Given the description of an element on the screen output the (x, y) to click on. 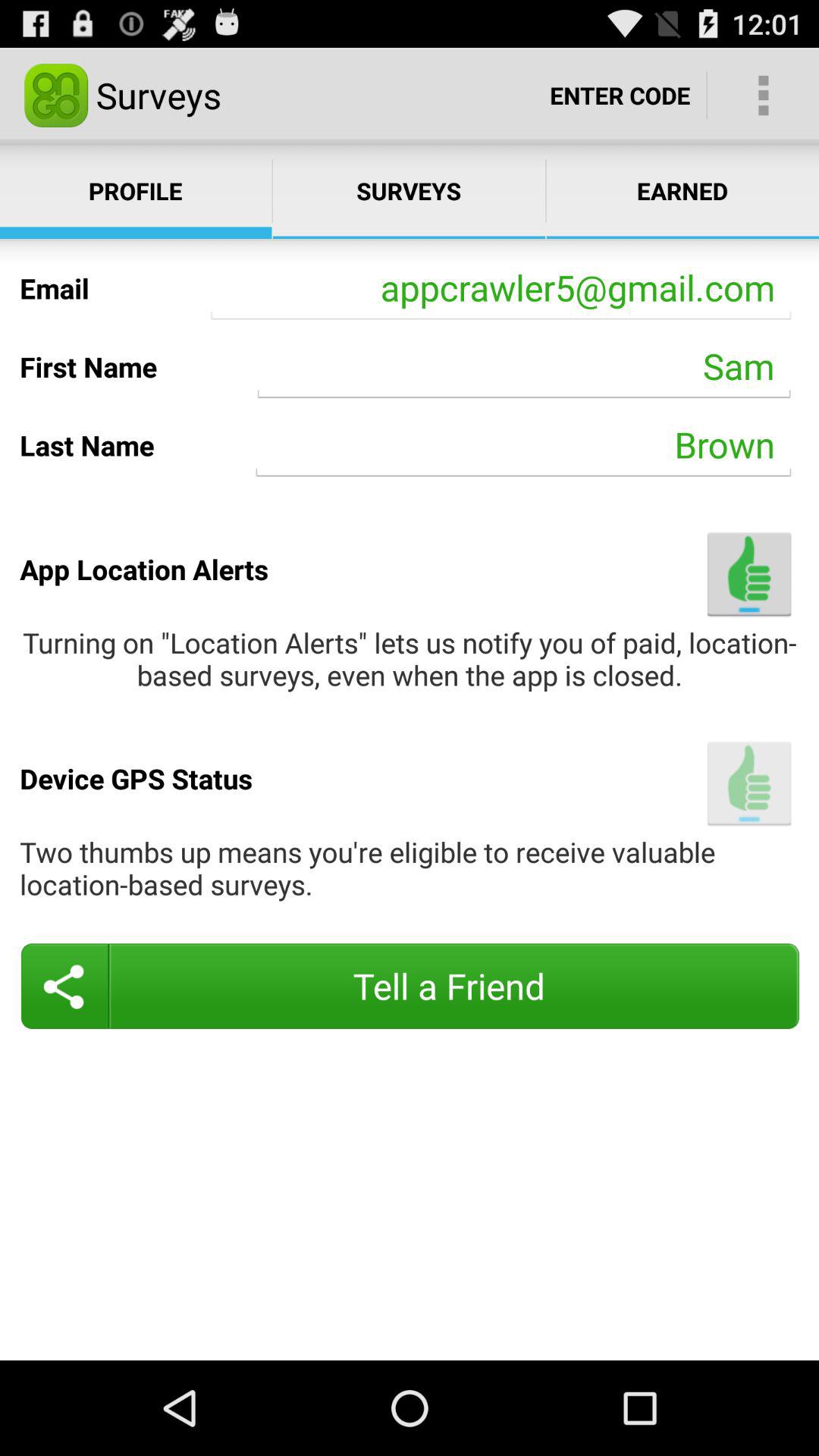
green thumbs up button is flashing (749, 783)
